Given the description of an element on the screen output the (x, y) to click on. 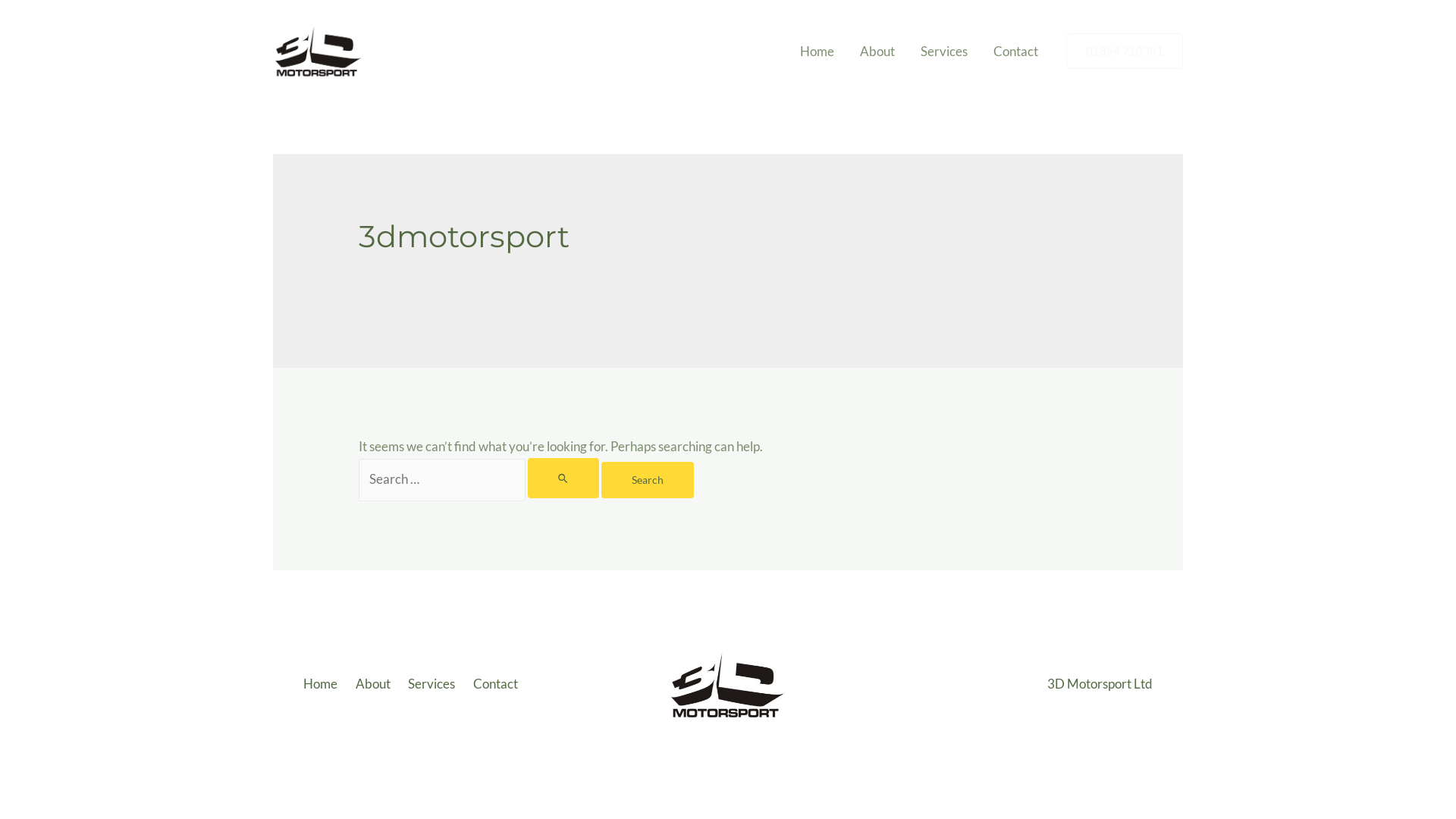
Contact Element type: text (497, 684)
About Element type: text (877, 51)
Search Element type: text (647, 479)
01824 710381 Element type: text (1124, 51)
About Element type: text (374, 684)
Home Element type: text (817, 51)
Home Element type: text (325, 684)
Services Element type: text (434, 684)
Contact Element type: text (1015, 51)
Services Element type: text (943, 51)
